Given the description of an element on the screen output the (x, y) to click on. 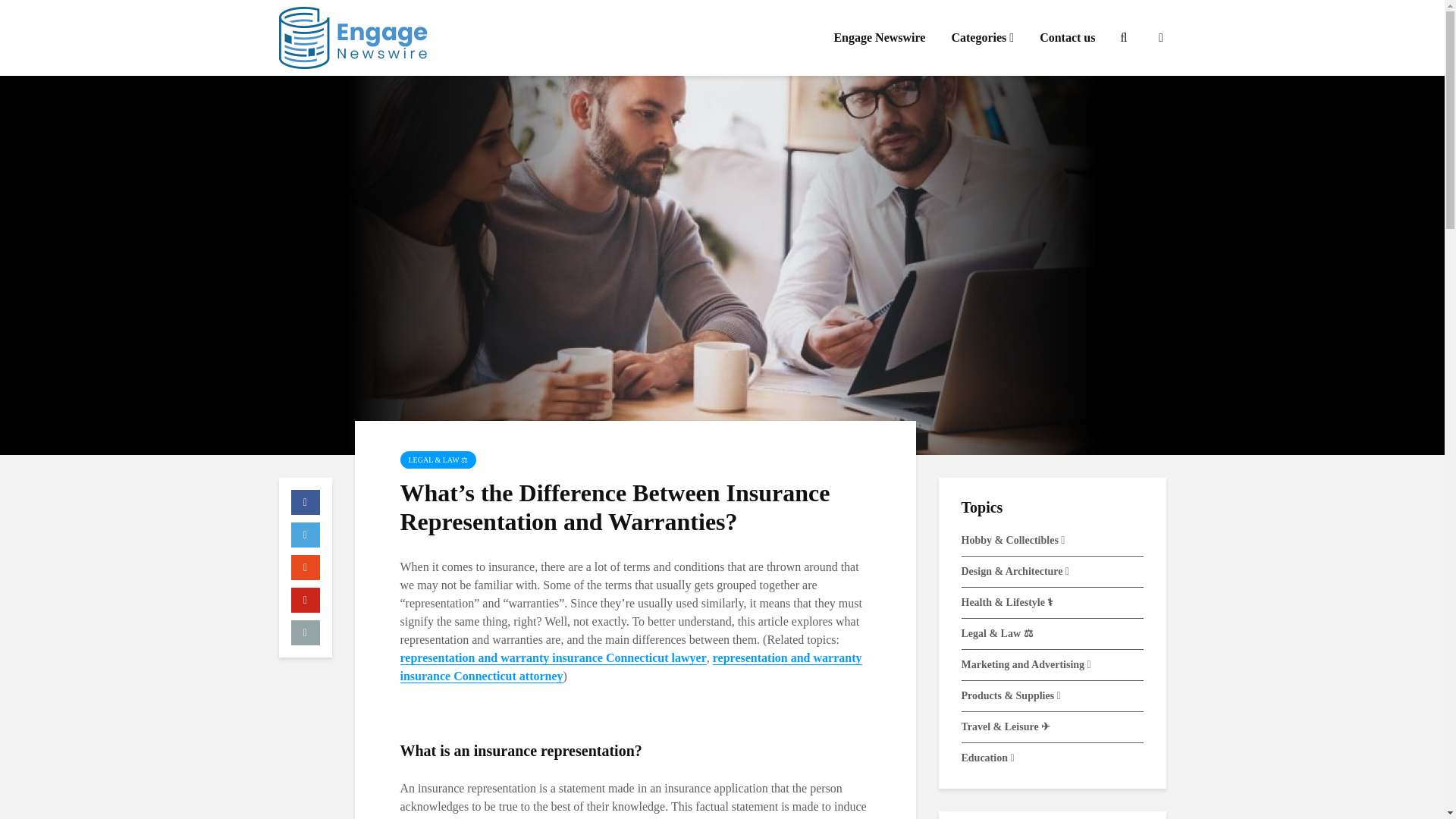
Engage Newswire (879, 37)
Contact us (1066, 37)
representation and warranty insurance Connecticut lawyer (553, 658)
representation and warranty insurance Connecticut attorney (630, 667)
